Given the description of an element on the screen output the (x, y) to click on. 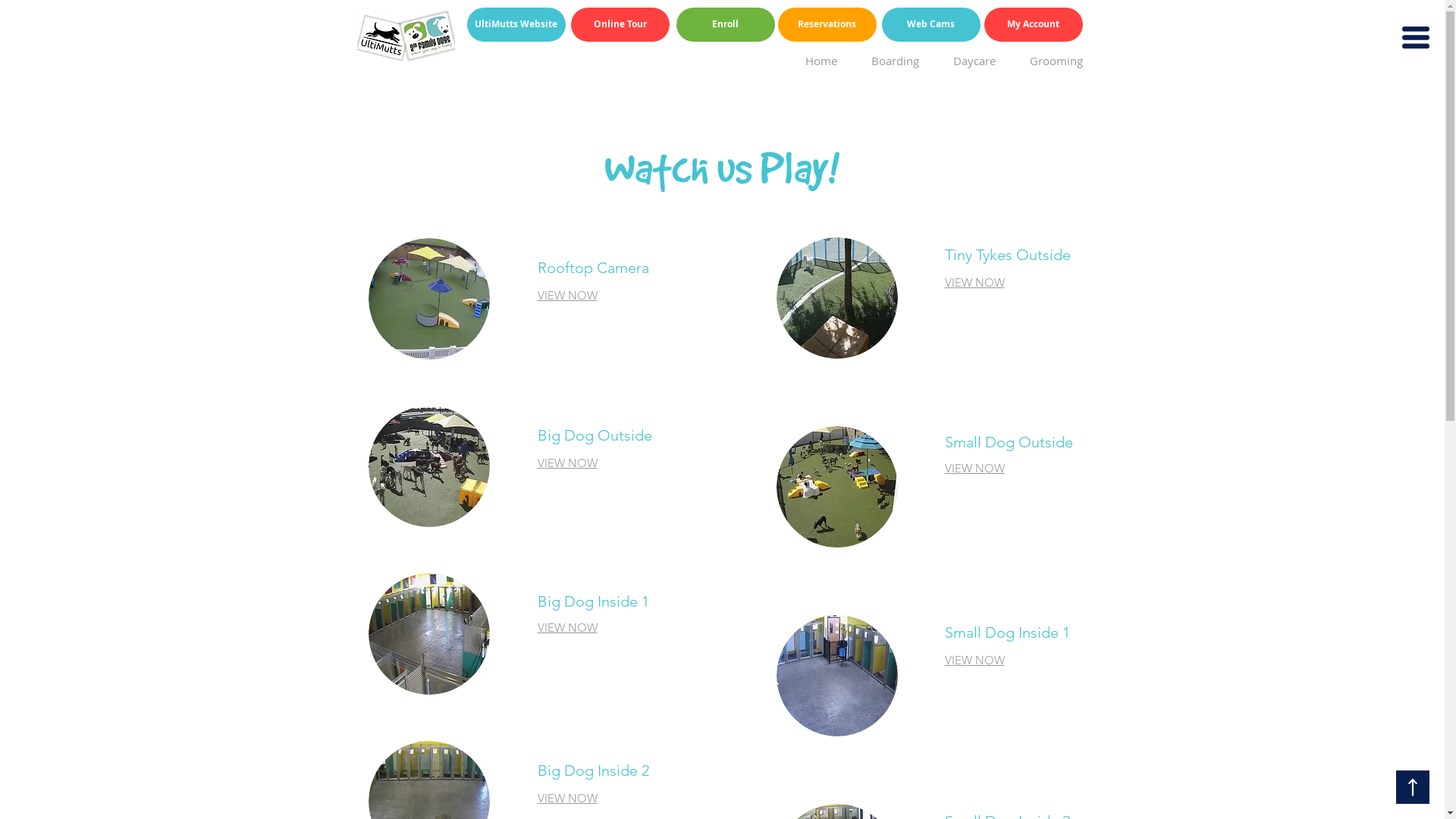
Enroll Element type: text (725, 24)
VIEW NOW Element type: text (566, 797)
Grooming Element type: text (1050, 60)
UltiMutts Website Element type: text (516, 24)
Reservations Element type: text (827, 24)
Web Cams Element type: text (930, 24)
Online Tour Element type: text (619, 24)
VIEW NOW Element type: text (974, 282)
Boarding Element type: text (888, 60)
VIEW NOW Element type: text (974, 659)
My Account Element type: text (1033, 24)
VIEW NOW Element type: text (974, 467)
Daycare Element type: text (967, 60)
VIEW NOW Element type: text (566, 462)
VIEW NOW Element type: text (566, 294)
VIEW NOW Element type: text (566, 627)
Home Element type: text (815, 60)
